Given the description of an element on the screen output the (x, y) to click on. 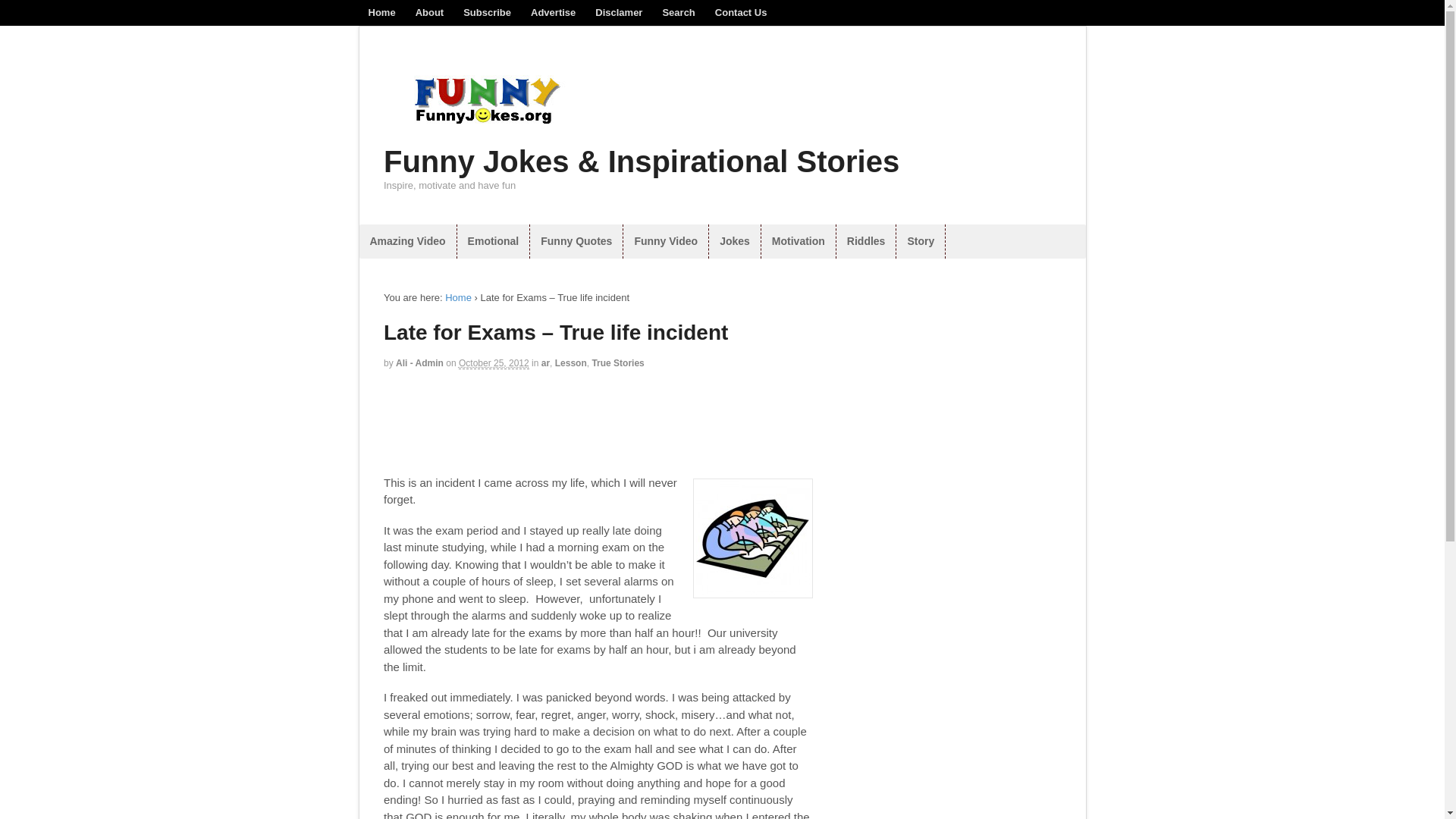
Subscribe (486, 12)
Lesson (570, 362)
Search (678, 12)
View all items in True Stories (617, 362)
Posts by Ali - Admin (420, 362)
True Stories (617, 362)
Home (381, 12)
Amazing Video (408, 241)
Story (920, 241)
Disclamer (618, 12)
Ali - Admin (420, 362)
Motivation (798, 241)
About (430, 12)
Inspire, motivate and have fun (485, 138)
Funny Video (665, 241)
